Given the description of an element on the screen output the (x, y) to click on. 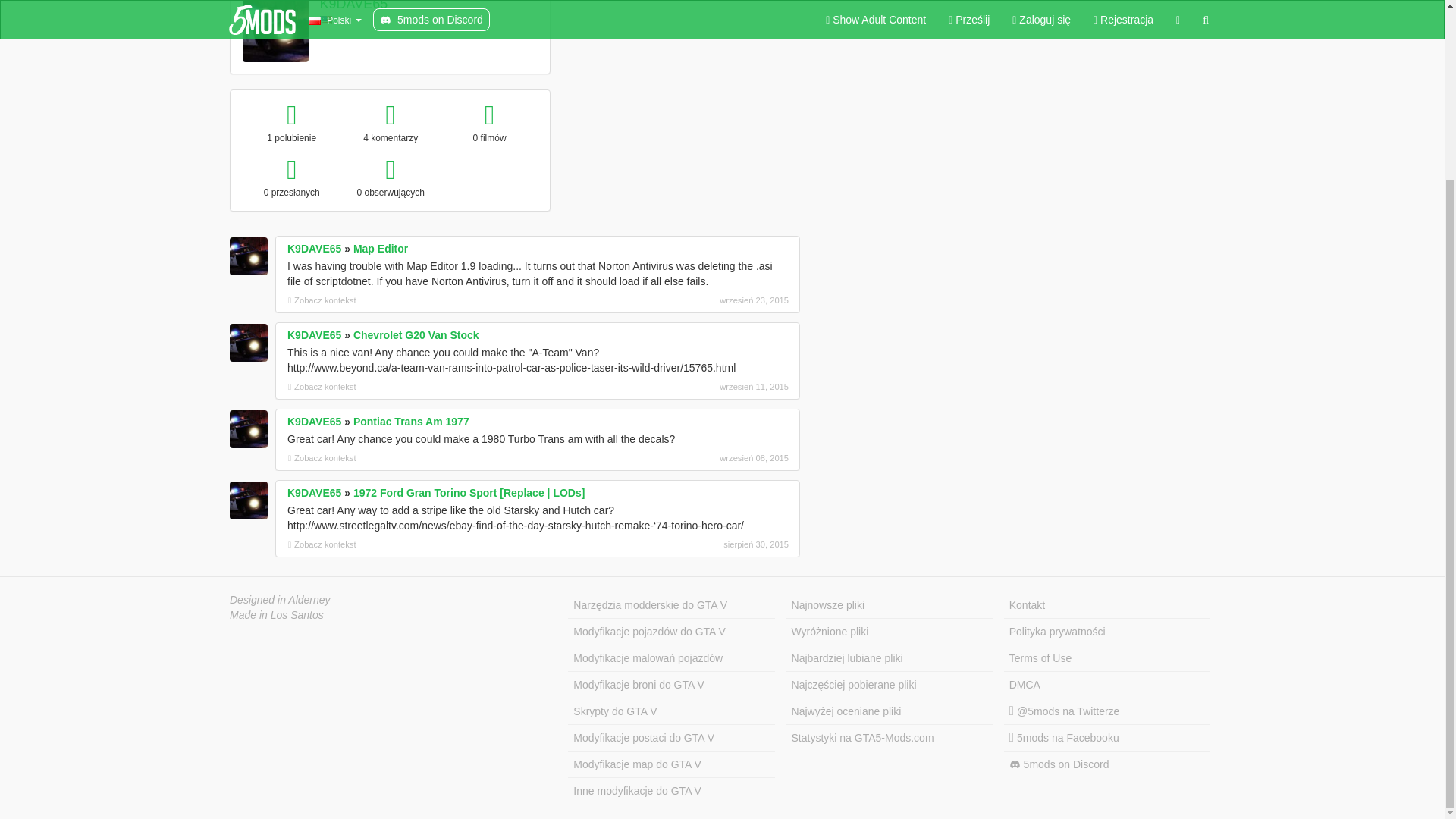
5mods on Discord (1106, 764)
Stany Zjednoczone (325, 19)
5mods na Facebooku (1106, 737)
